Given the description of an element on the screen output the (x, y) to click on. 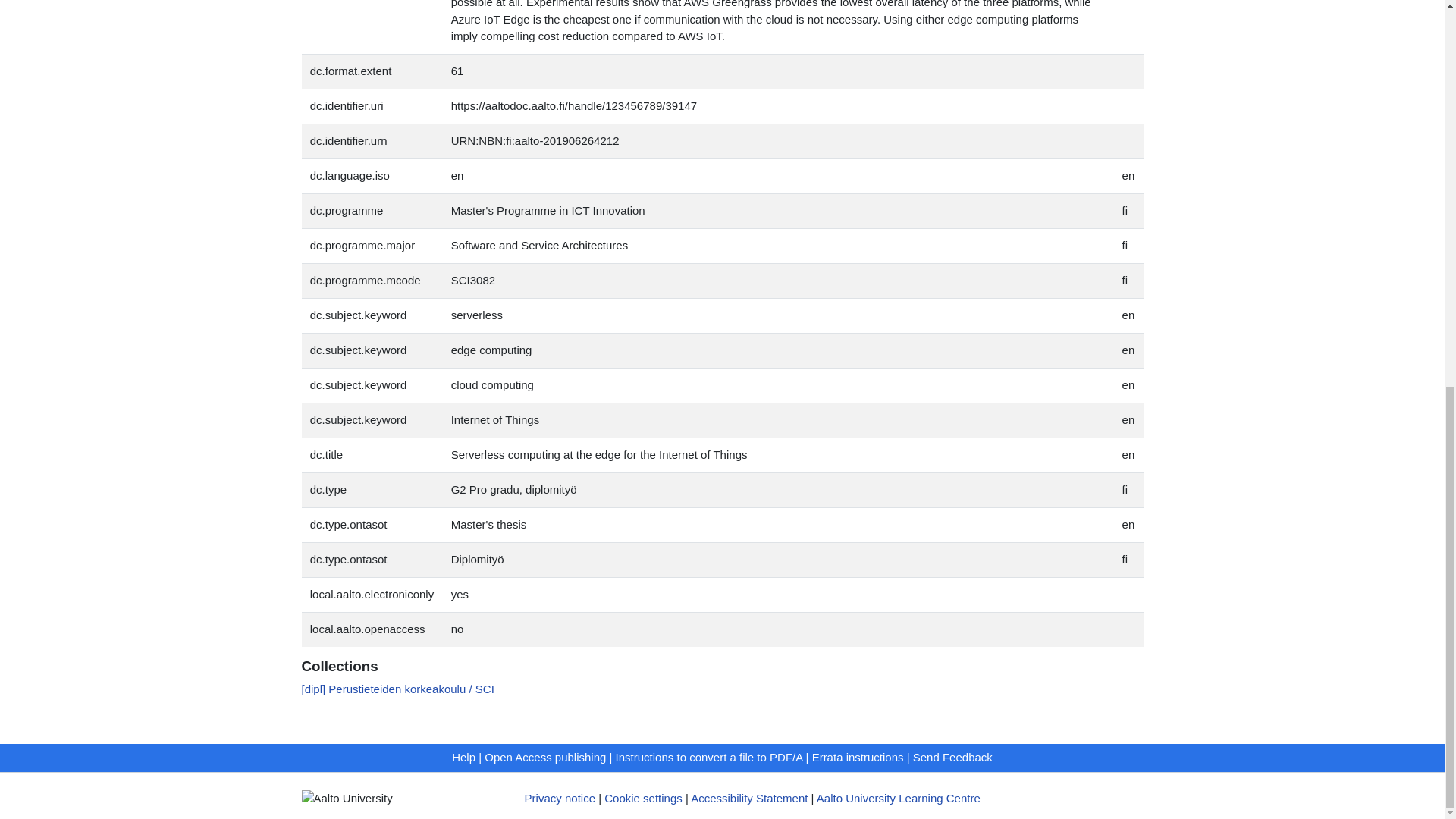
Send Feedback (952, 757)
Help (463, 757)
Errata instructions (858, 757)
Accessibility Statement (749, 797)
Aalto University Learning Centre (897, 797)
Open Access publishing (544, 757)
Privacy notice (559, 797)
Cookie settings (643, 797)
